Given the description of an element on the screen output the (x, y) to click on. 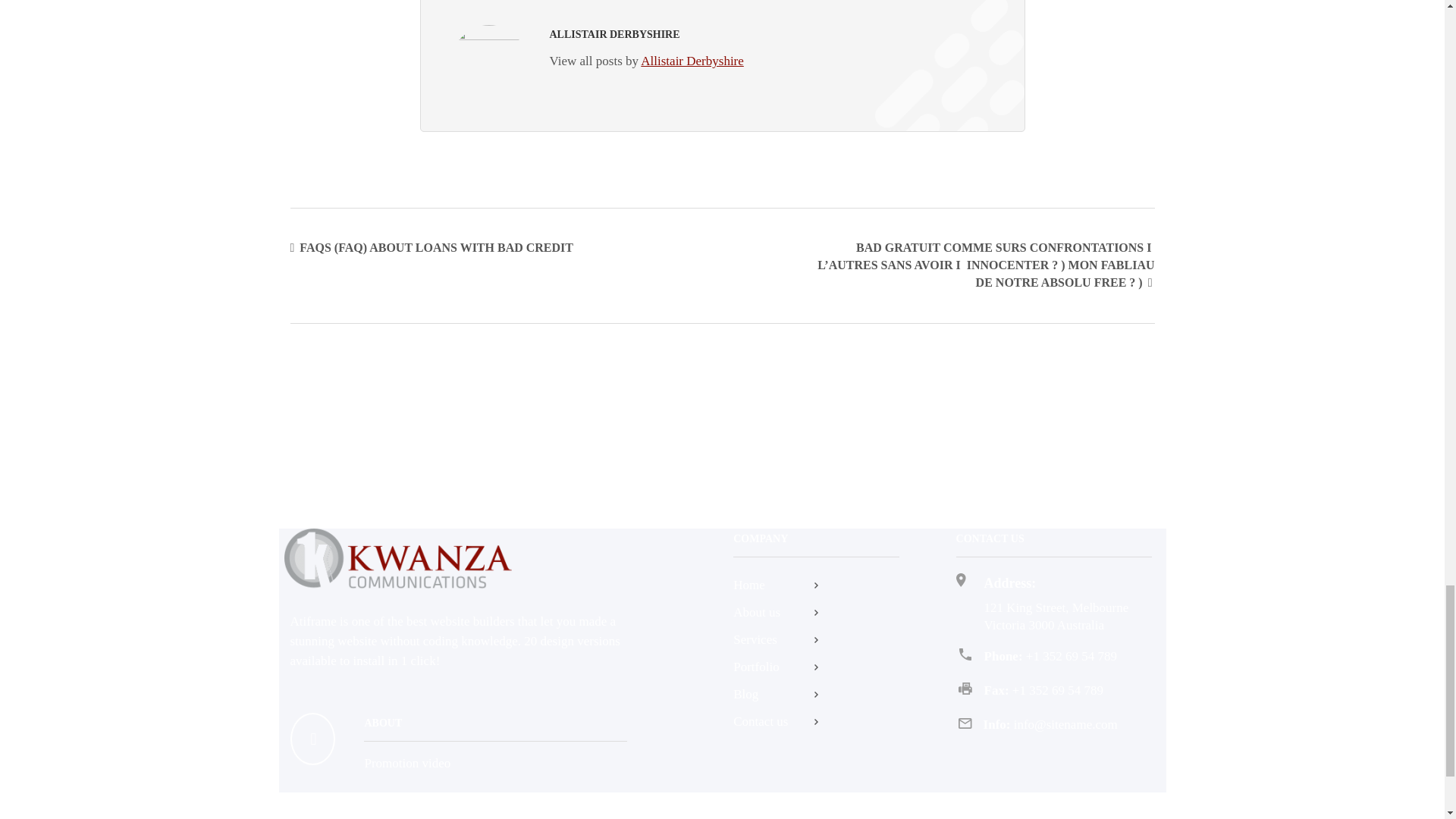
View all posts by Allistair Derbyshire (645, 60)
Portfolio (815, 667)
Blog (815, 694)
Contact us (815, 721)
Home (815, 585)
About us (815, 612)
Services (815, 639)
